Given the description of an element on the screen output the (x, y) to click on. 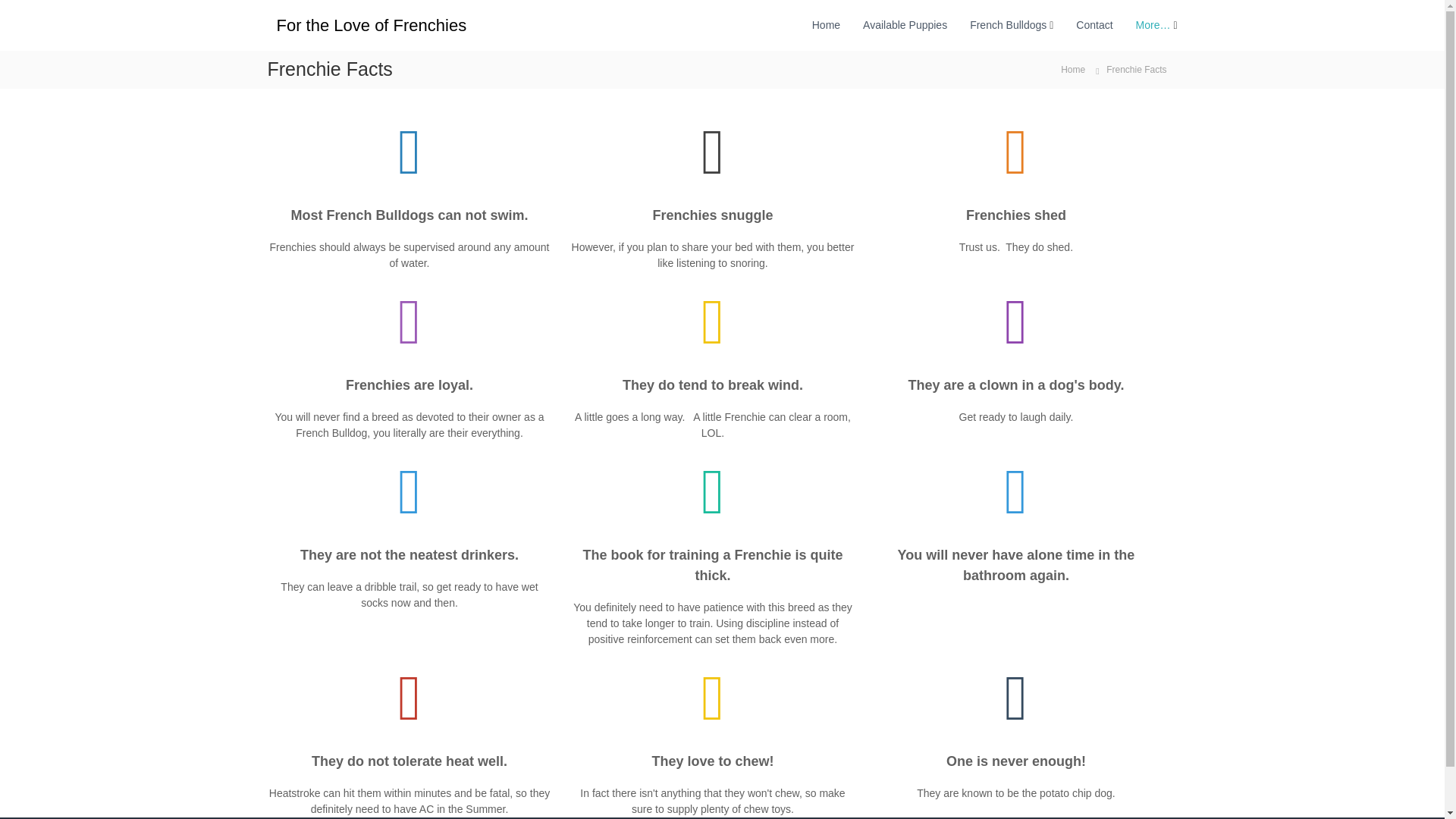
French Bulldogs (1007, 24)
Home (1072, 69)
For the Love of Frenchies (370, 24)
Home (1072, 69)
Contact (1093, 24)
Home (826, 24)
Available Puppies (905, 24)
